Given the description of an element on the screen output the (x, y) to click on. 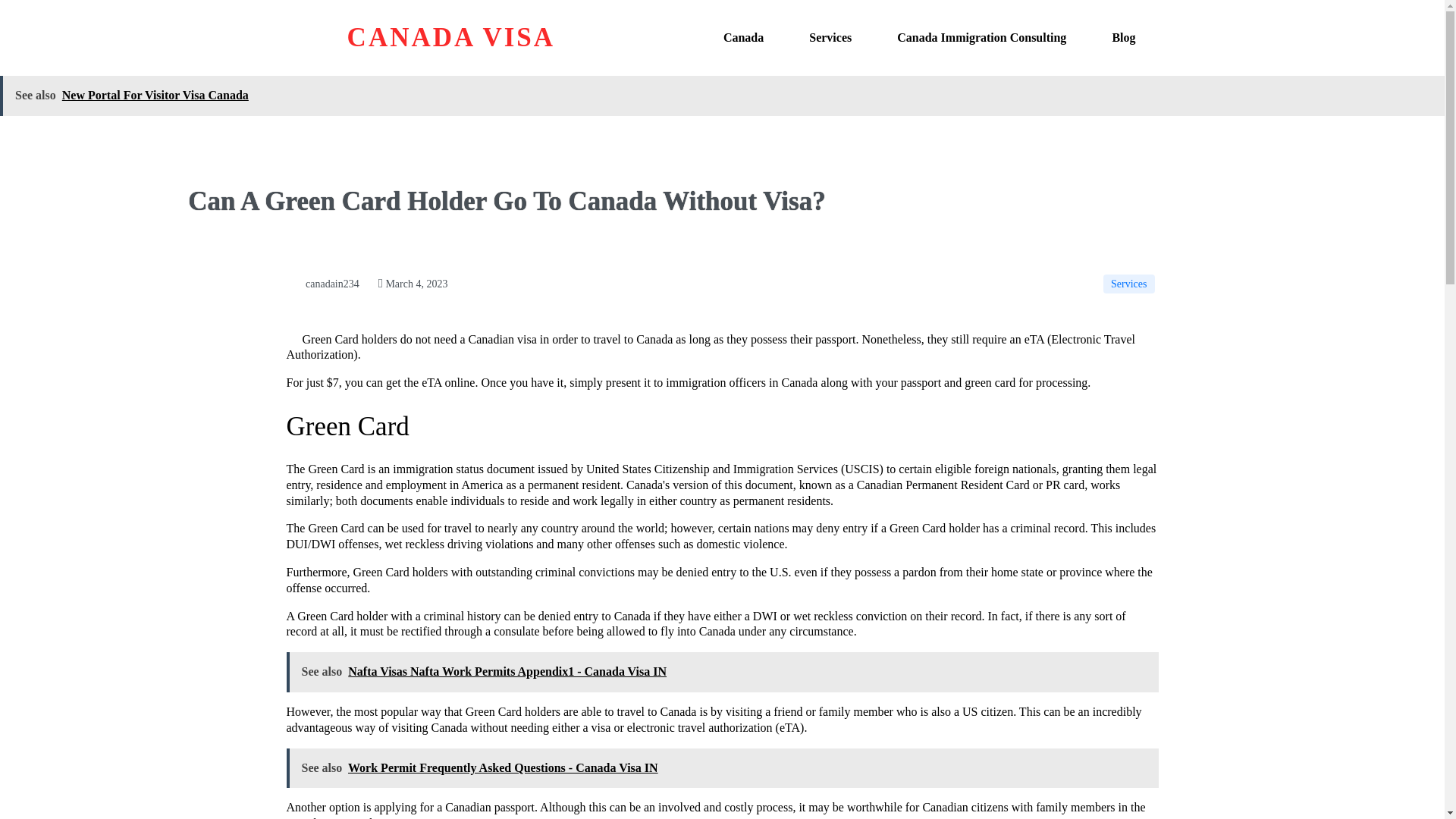
CANADA VISA (434, 37)
Services (830, 38)
Canada (743, 38)
March 4, 2023 (413, 283)
canadain234 (322, 283)
Services (1128, 283)
Blog (1123, 38)
Canada Immigration Consulting (982, 38)
